Given the description of an element on the screen output the (x, y) to click on. 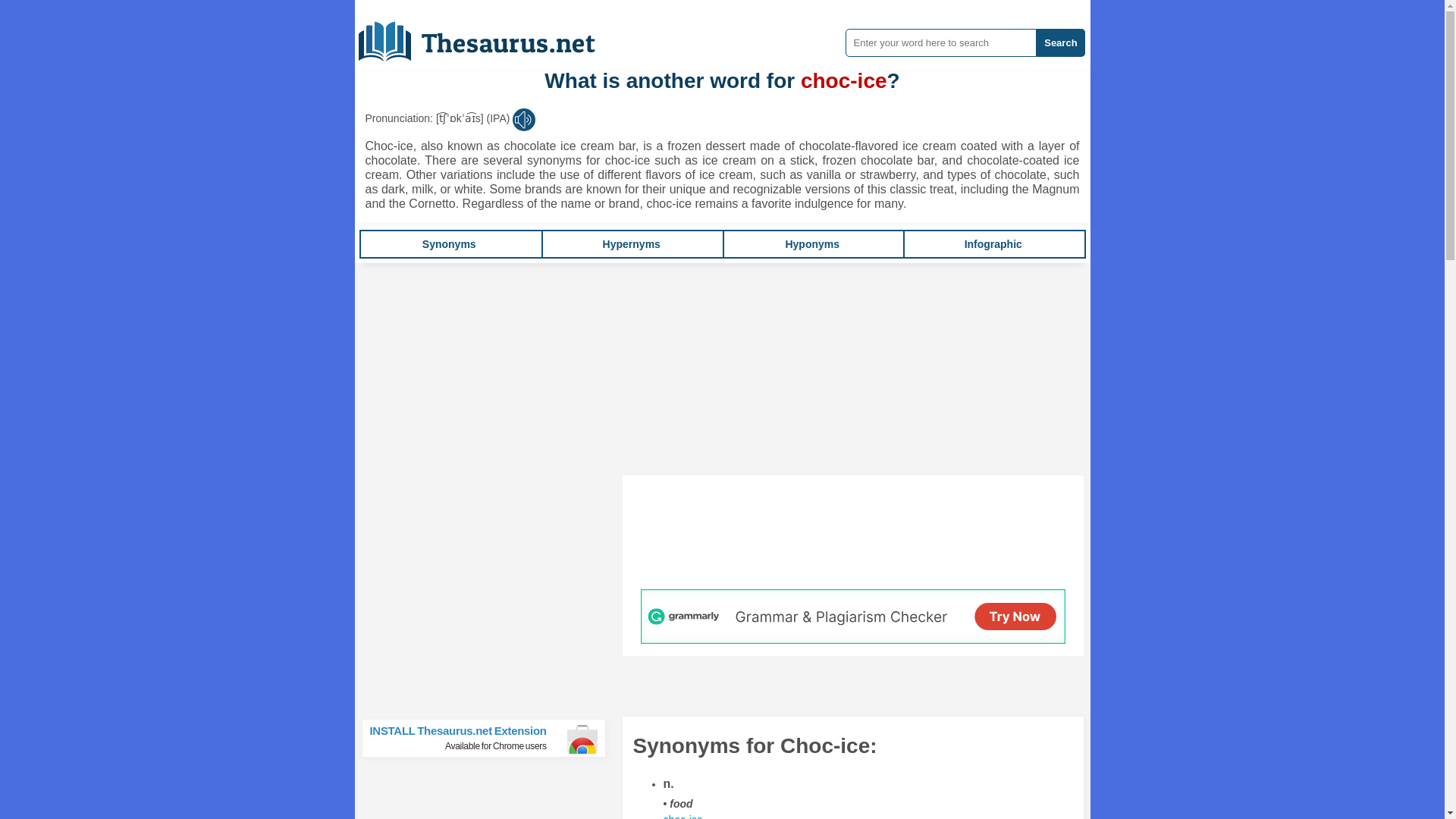
Hypernyms (631, 244)
Synonyms (449, 244)
Search (1060, 42)
Hyponyms (812, 244)
Hyponyms (812, 244)
Thesaurus.net (487, 35)
Synonyms for Choc-ice (489, 737)
Infographic (681, 816)
choc-ice (992, 244)
